Given the description of an element on the screen output the (x, y) to click on. 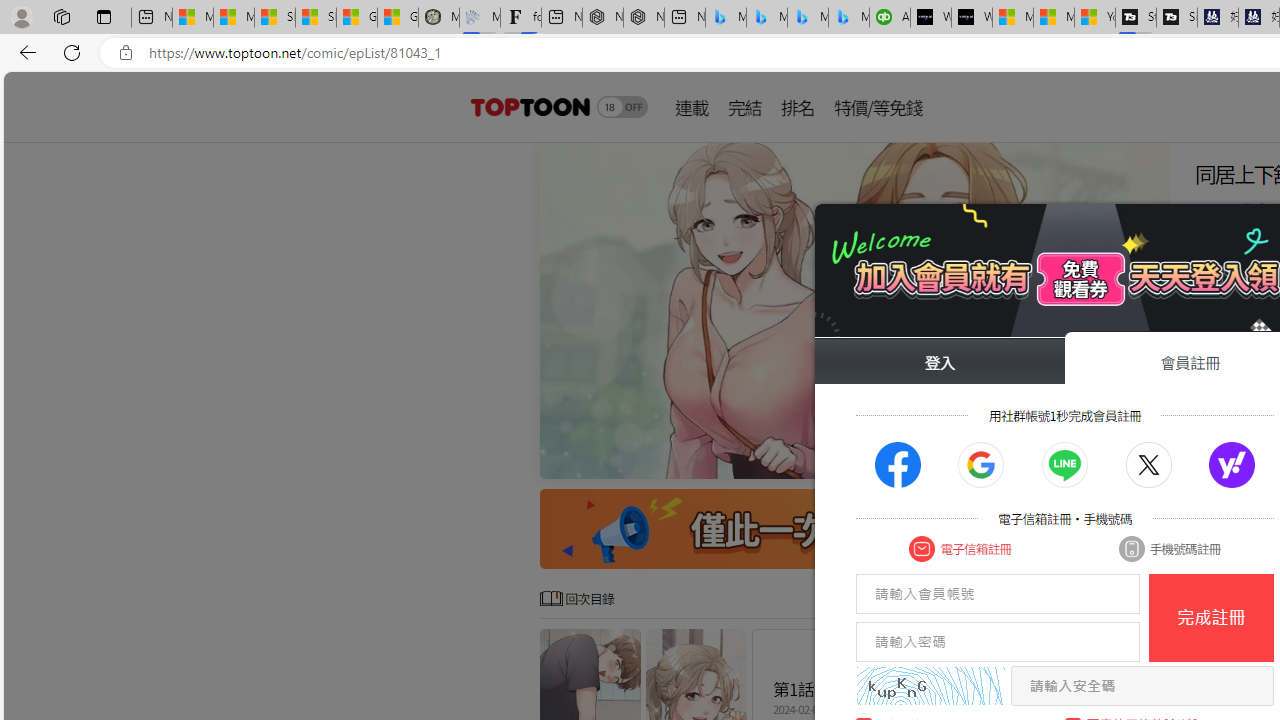
Class: socialBtn actionSocialJoinBtn (1232, 465)
Personal Profile (21, 16)
Nordace - #1 Japanese Best-Seller - Siena Smart Backpack (643, 17)
View site information (125, 53)
Streaming Coverage | T3 (1135, 17)
Refresh (72, 52)
Back (24, 52)
